Given the description of an element on the screen output the (x, y) to click on. 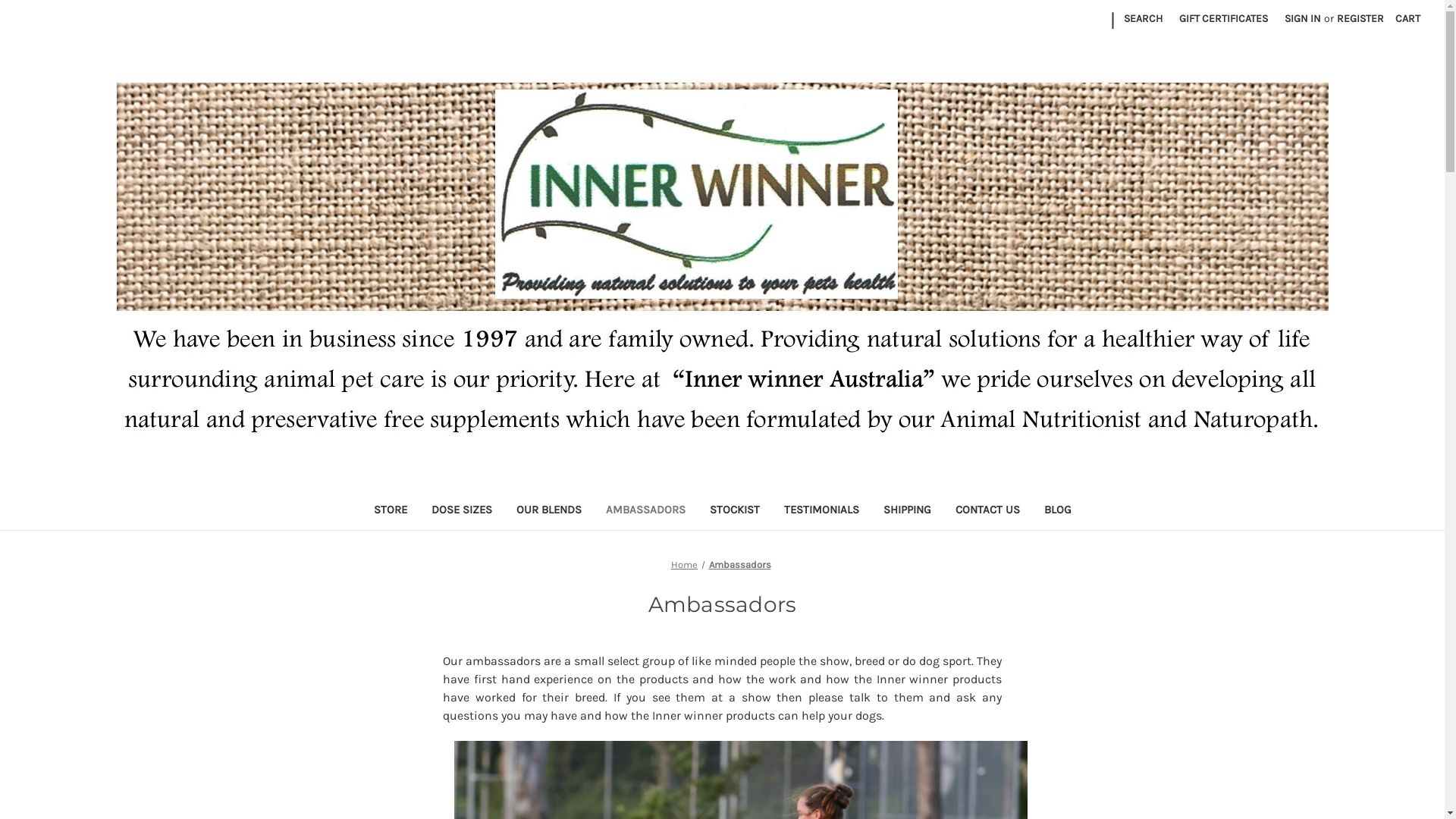
SIGN IN Element type: text (1302, 18)
Ambassadors Element type: text (739, 564)
BLOG Element type: text (1056, 511)
AMBASSADORS Element type: text (644, 511)
Inner Winner Element type: hover (722, 262)
Home Element type: text (684, 564)
GIFT CERTIFICATES Element type: text (1223, 18)
STORE Element type: text (389, 511)
REGISTER Element type: text (1360, 18)
DOSE SIZES Element type: text (460, 511)
CONTACT US Element type: text (987, 511)
SHIPPING Element type: text (906, 511)
OUR BLENDS Element type: text (548, 511)
TESTIMONIALS Element type: text (821, 511)
STOCKIST Element type: text (734, 511)
SEARCH Element type: text (1142, 18)
CART Element type: text (1407, 18)
